Given the description of an element on the screen output the (x, y) to click on. 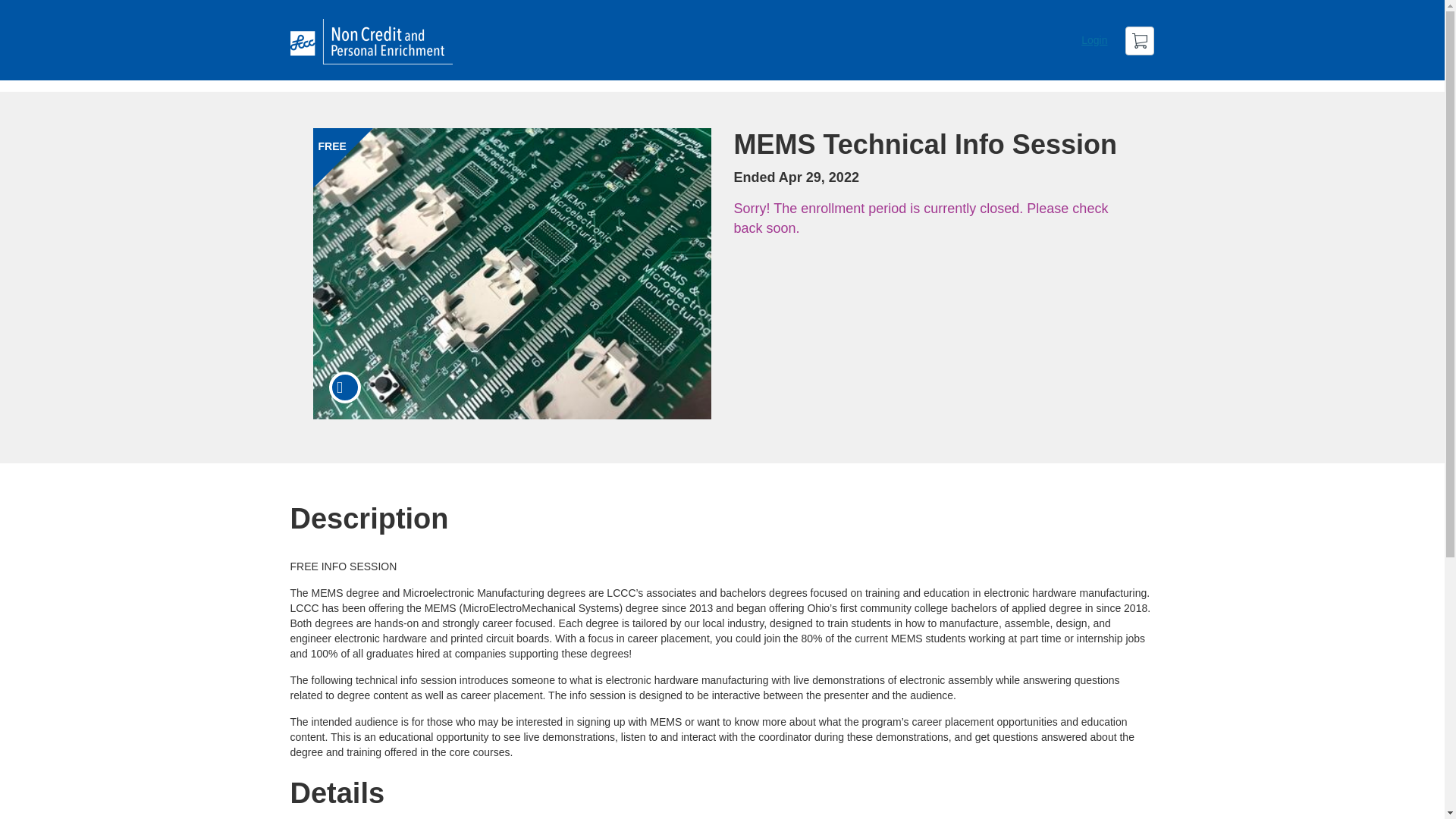
Course (345, 387)
Cart (1139, 40)
Log in to Lorain County Community College (1093, 39)
Login (1093, 39)
